Given the description of an element on the screen output the (x, y) to click on. 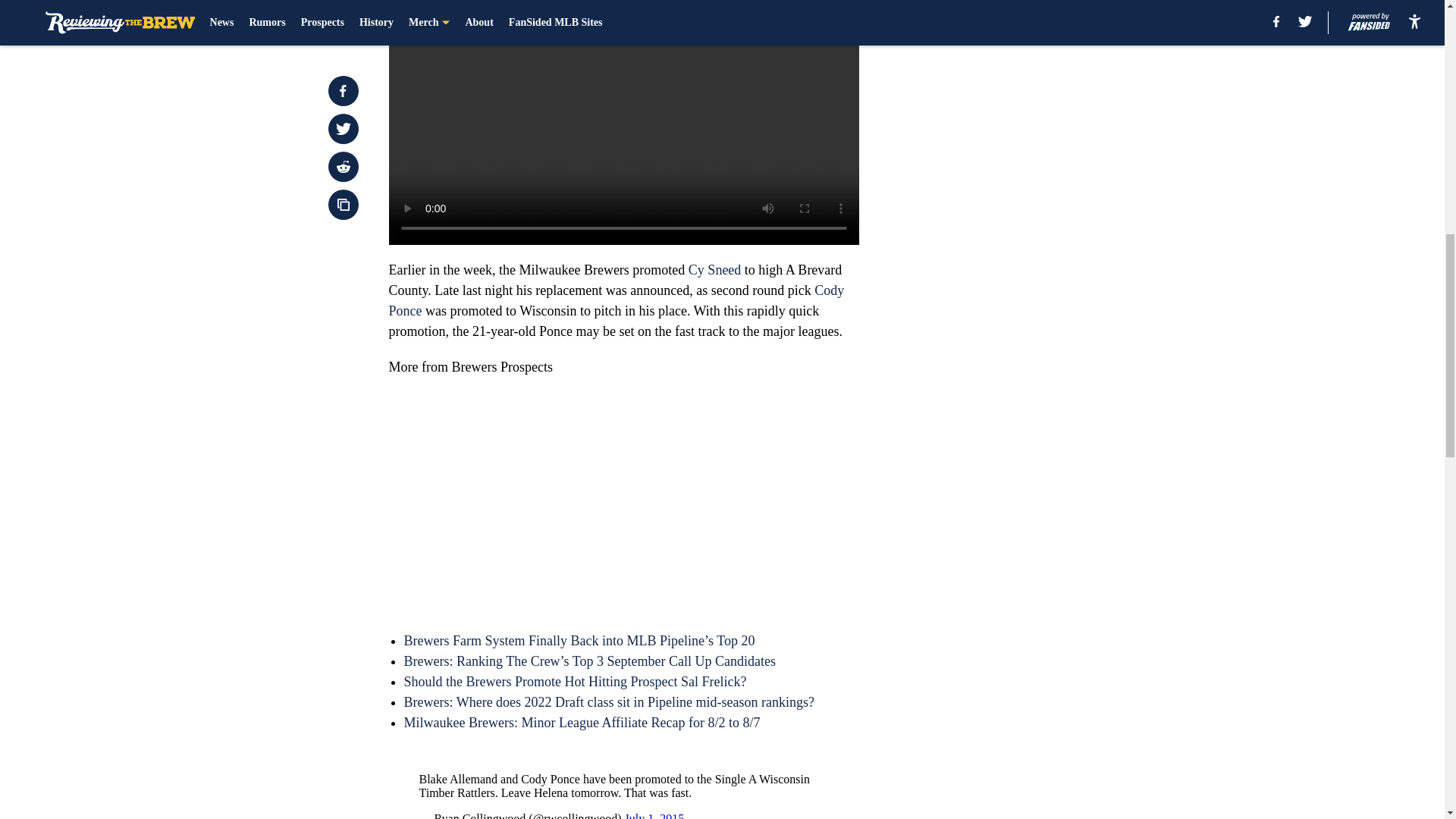
July 1, 2015 (654, 815)
Cy Sneed (714, 269)
3rd party ad content (1047, 84)
Cody Ponce (616, 300)
Should the Brewers Promote Hot Hitting Prospect Sal Frelick? (574, 681)
3rd party ad content (1047, 294)
